Given the description of an element on the screen output the (x, y) to click on. 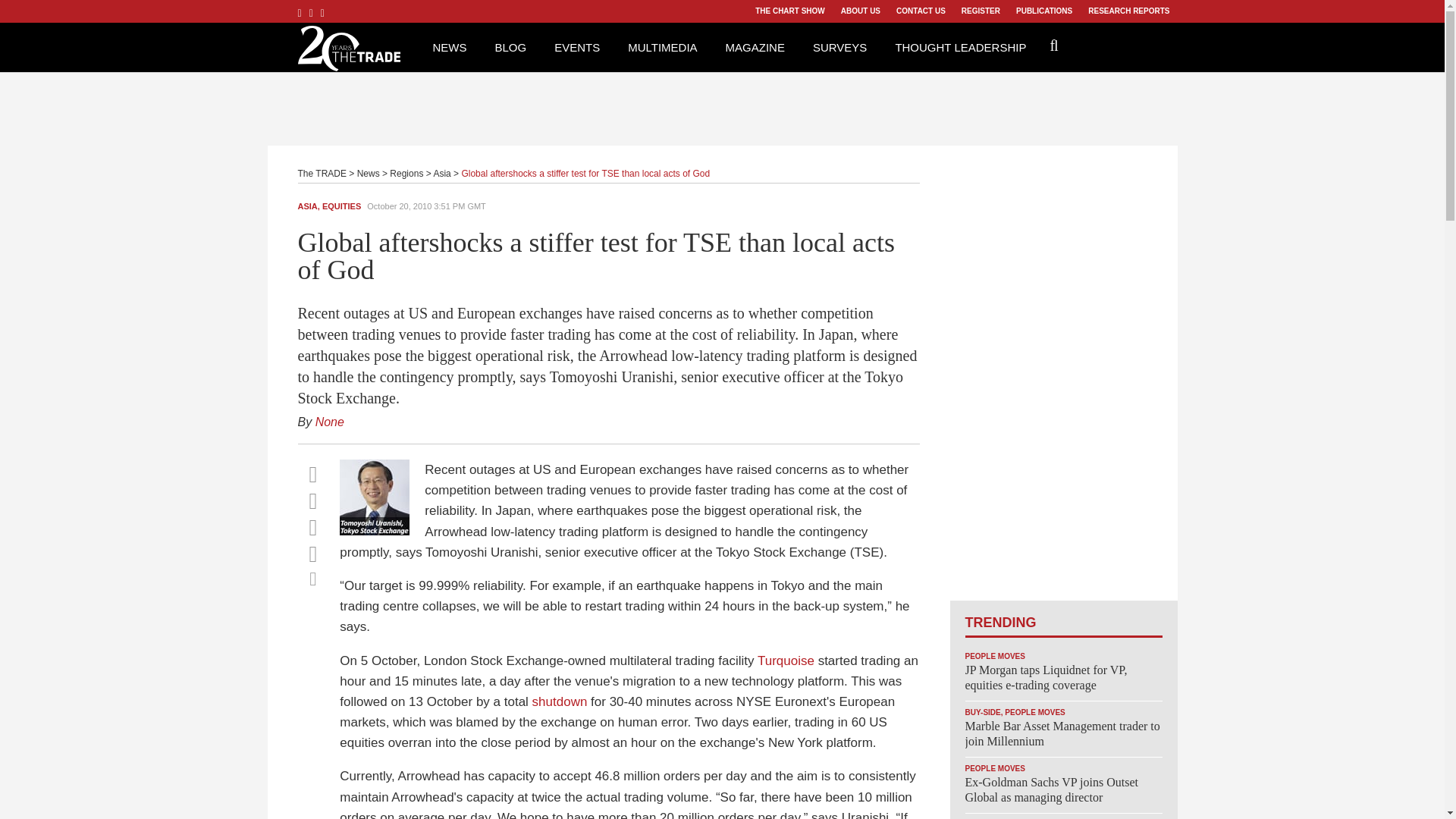
ShareREAL (377, 531)
ABOUT US (860, 11)
Go to the Regions Category archives. (406, 173)
CONTACT US (920, 11)
Go to the Asia Category archives. (440, 173)
THE CHART SHOW (789, 11)
PUBLICATIONS (1043, 11)
Go to The TRADE. (321, 173)
Go to the News Category archives. (368, 173)
REGISTER (980, 11)
3rd party ad content (721, 106)
